Given the description of an element on the screen output the (x, y) to click on. 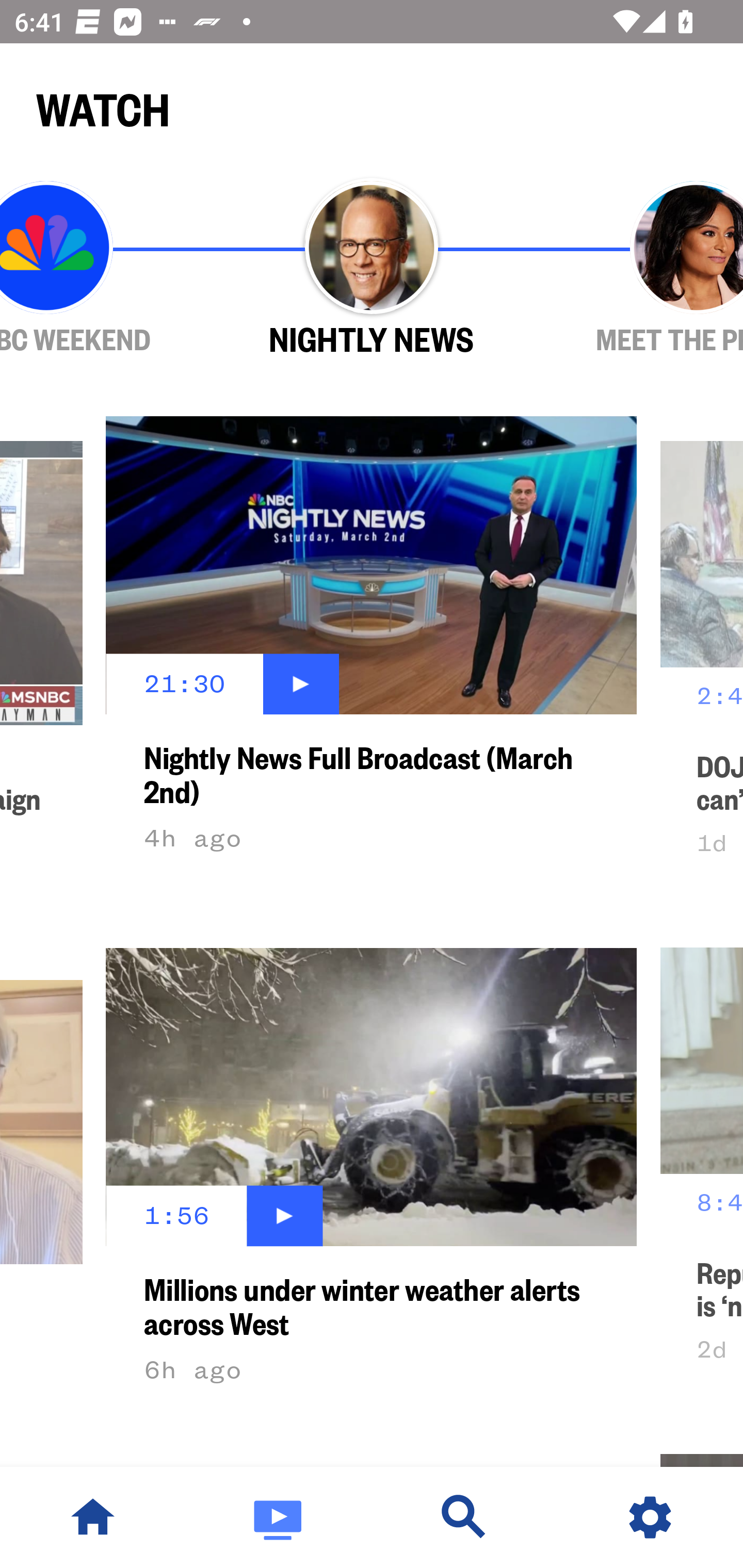
MSNBC WEEKEND (104, 268)
NIGHTLY NEWS (371, 268)
MEET THE PRESS (638, 268)
NBC News Home (92, 1517)
Discover (464, 1517)
Settings (650, 1517)
